Given the description of an element on the screen output the (x, y) to click on. 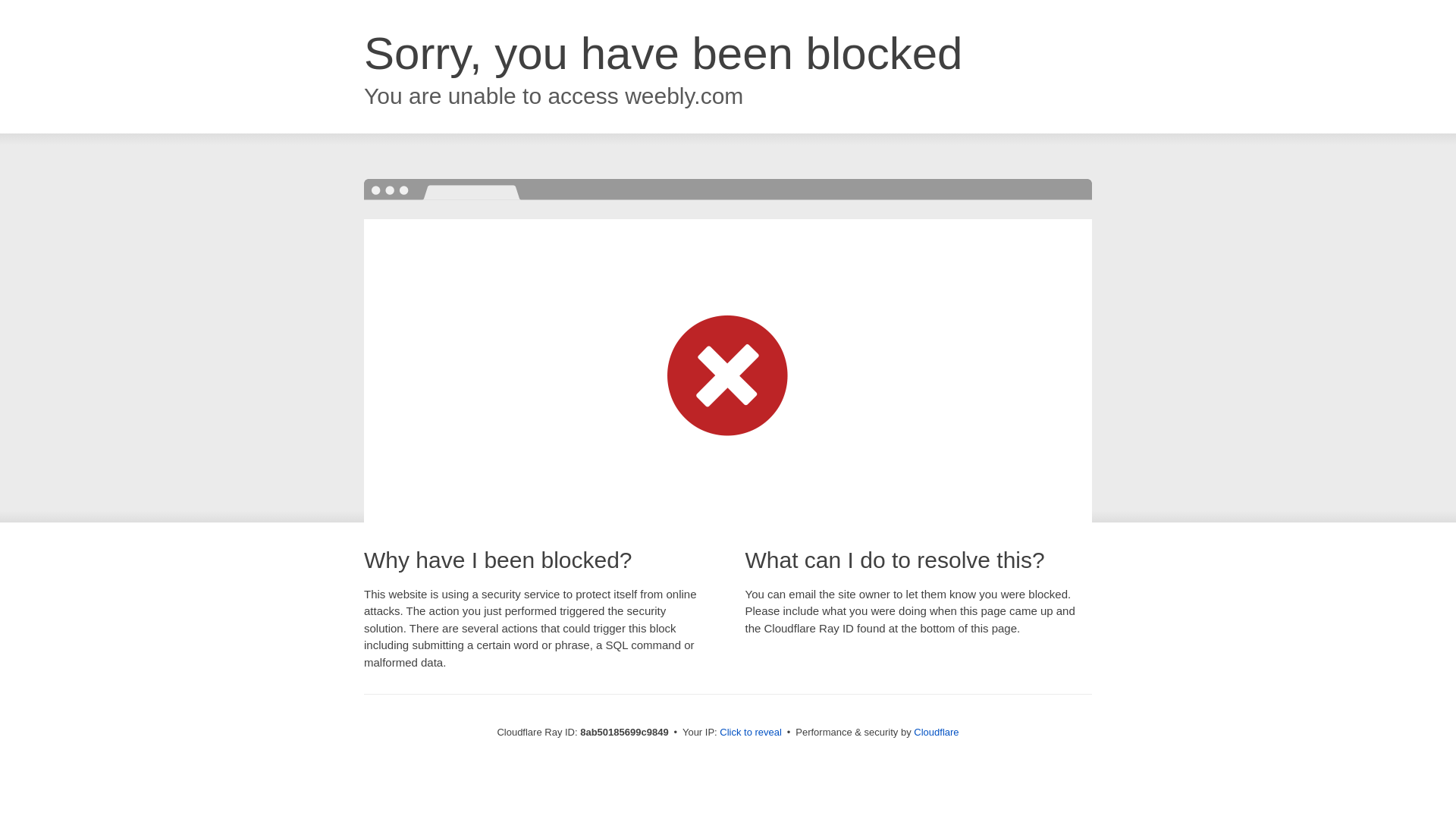
Cloudflare (936, 731)
Click to reveal (750, 732)
